Given the description of an element on the screen output the (x, y) to click on. 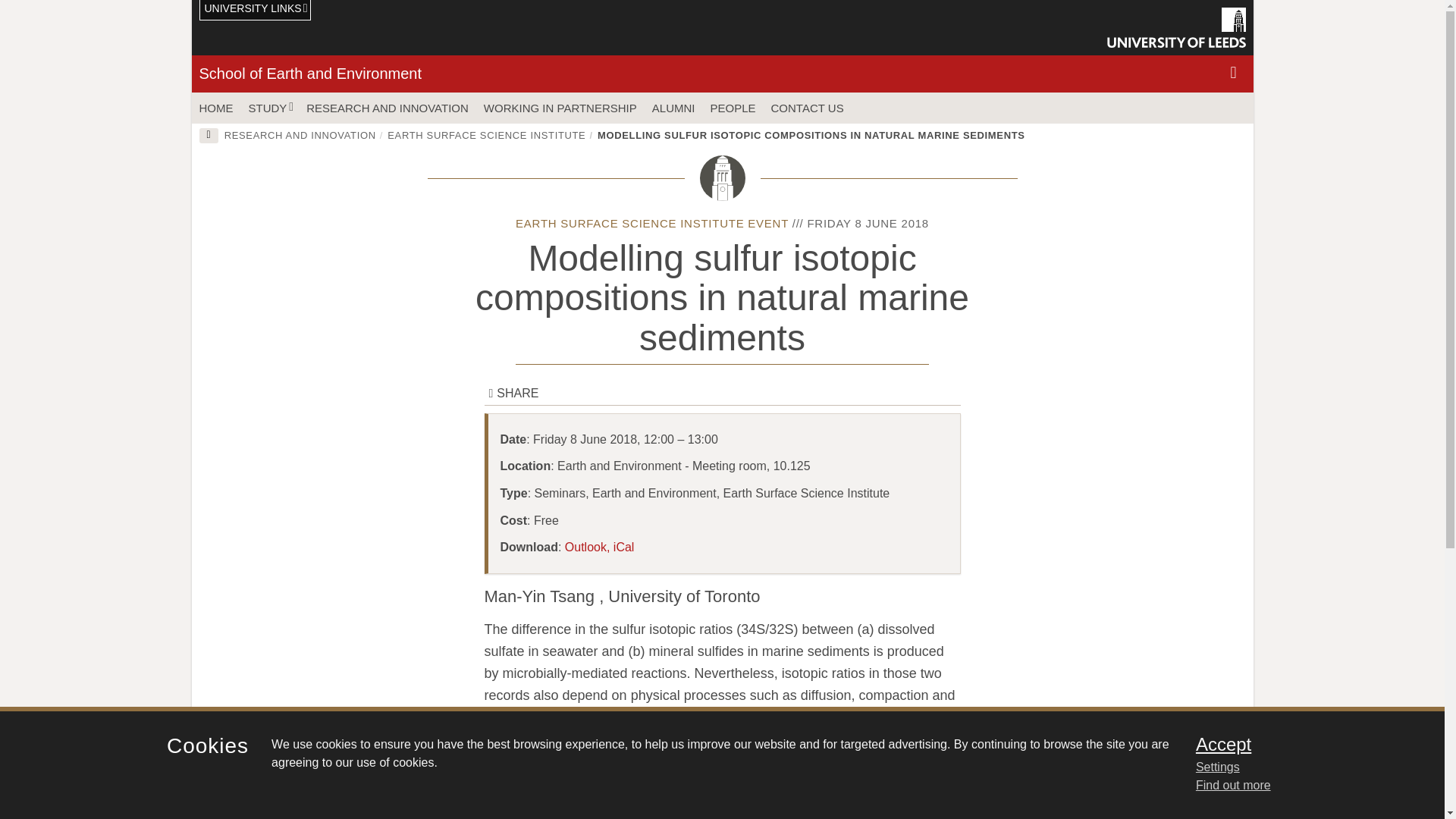
Accept (1300, 744)
Find out more (1233, 784)
UNIVERSITY LINKS (254, 10)
University of Leeds homepage (1176, 27)
Settings (1300, 767)
